Given the description of an element on the screen output the (x, y) to click on. 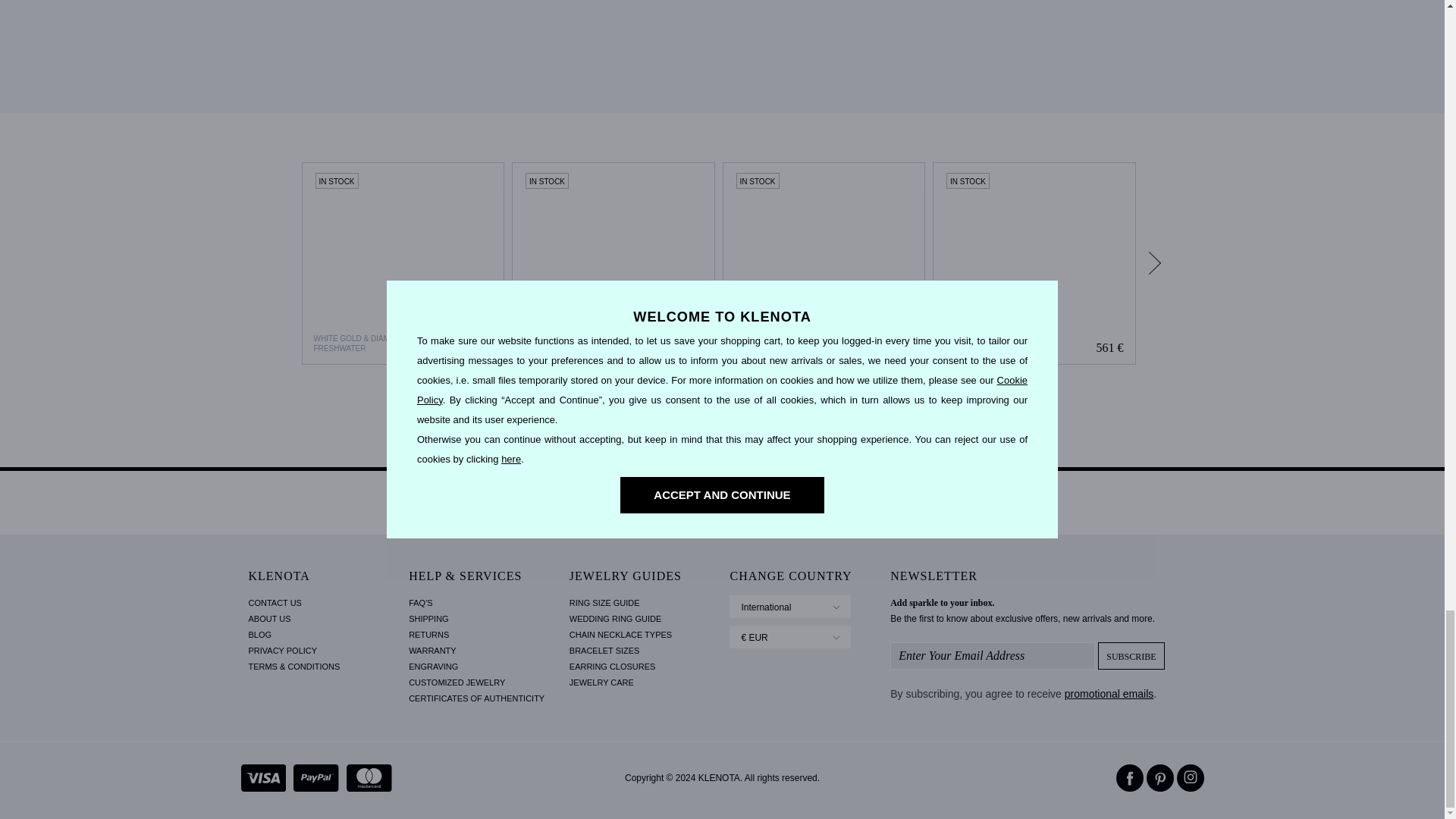
Akoya Pearl and Diamond White Gold Earrings (823, 263)
Facebook (1129, 777)
Pendant Made of White Gold with Freshwater Pearl (1034, 263)
Instagram (1190, 777)
Akoya Pearl and Diamond White Gold Earrings (823, 263)
Pendant Made of White Gold with Freshwater Pearl (1034, 263)
Akoya Pearl White Gold Necklace (613, 263)
Pendant in White Gold with Pearl and Three Brilliants (402, 263)
Pendant in White Gold with Pearl and Three Brilliants (403, 263)
Pinterest (1160, 777)
Akoya Pearl White Gold Necklace (613, 263)
